Given the description of an element on the screen output the (x, y) to click on. 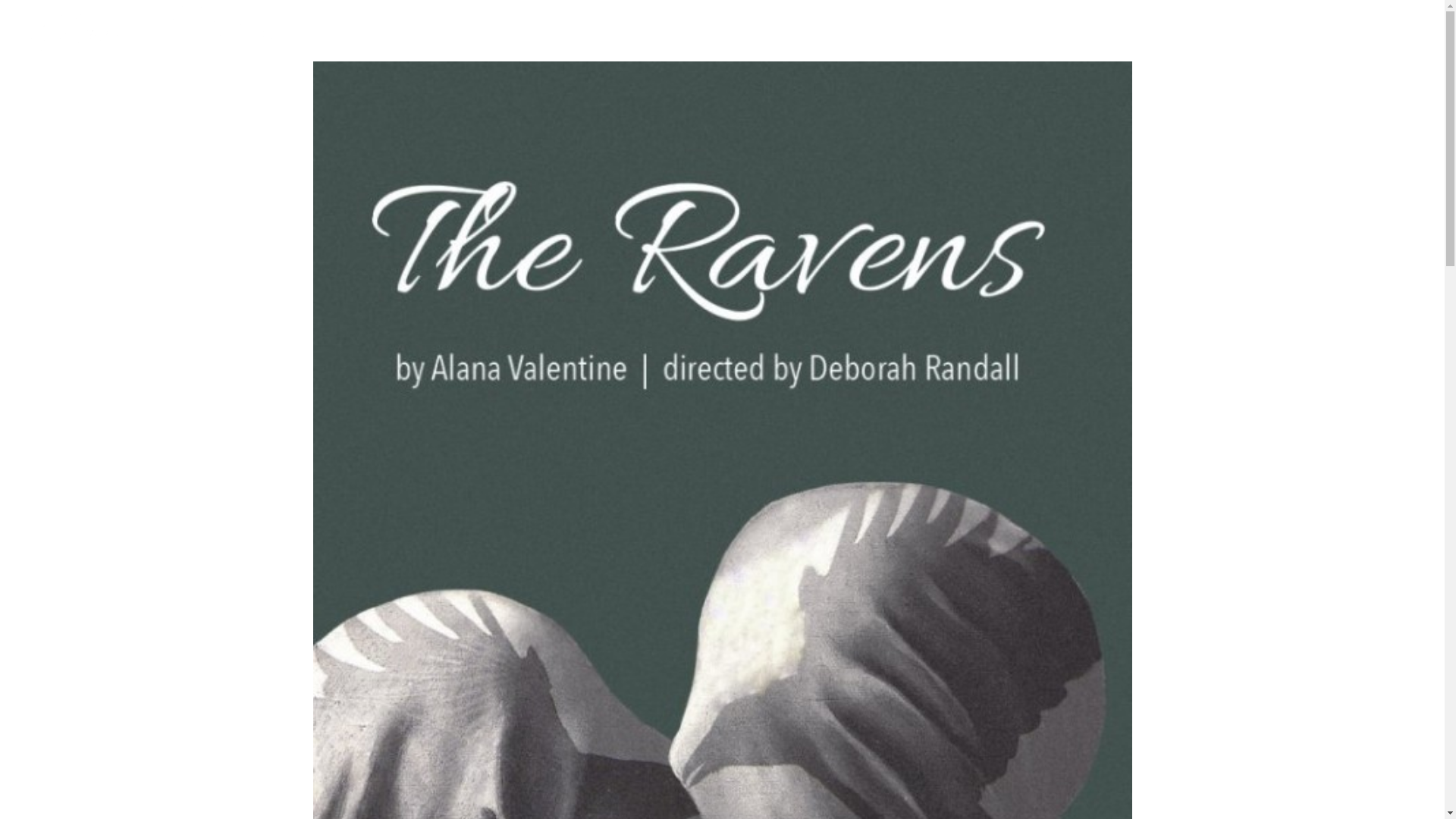
News (1309, 44)
Home (1112, 44)
Biography (1178, 44)
Contact (1366, 44)
Work (1251, 44)
